Given the description of an element on the screen output the (x, y) to click on. 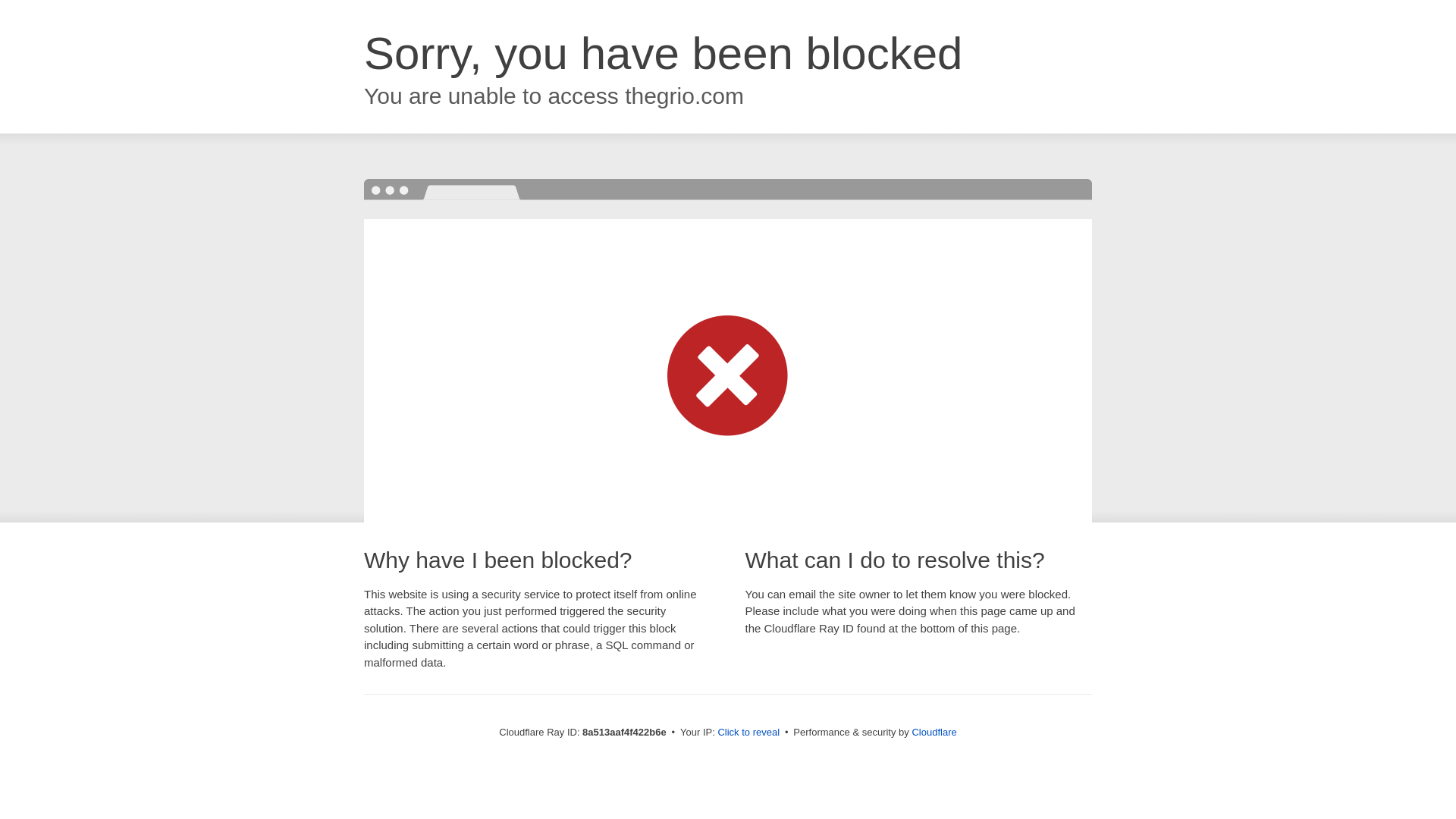
Cloudflare (933, 731)
Click to reveal (747, 732)
